Given the description of an element on the screen output the (x, y) to click on. 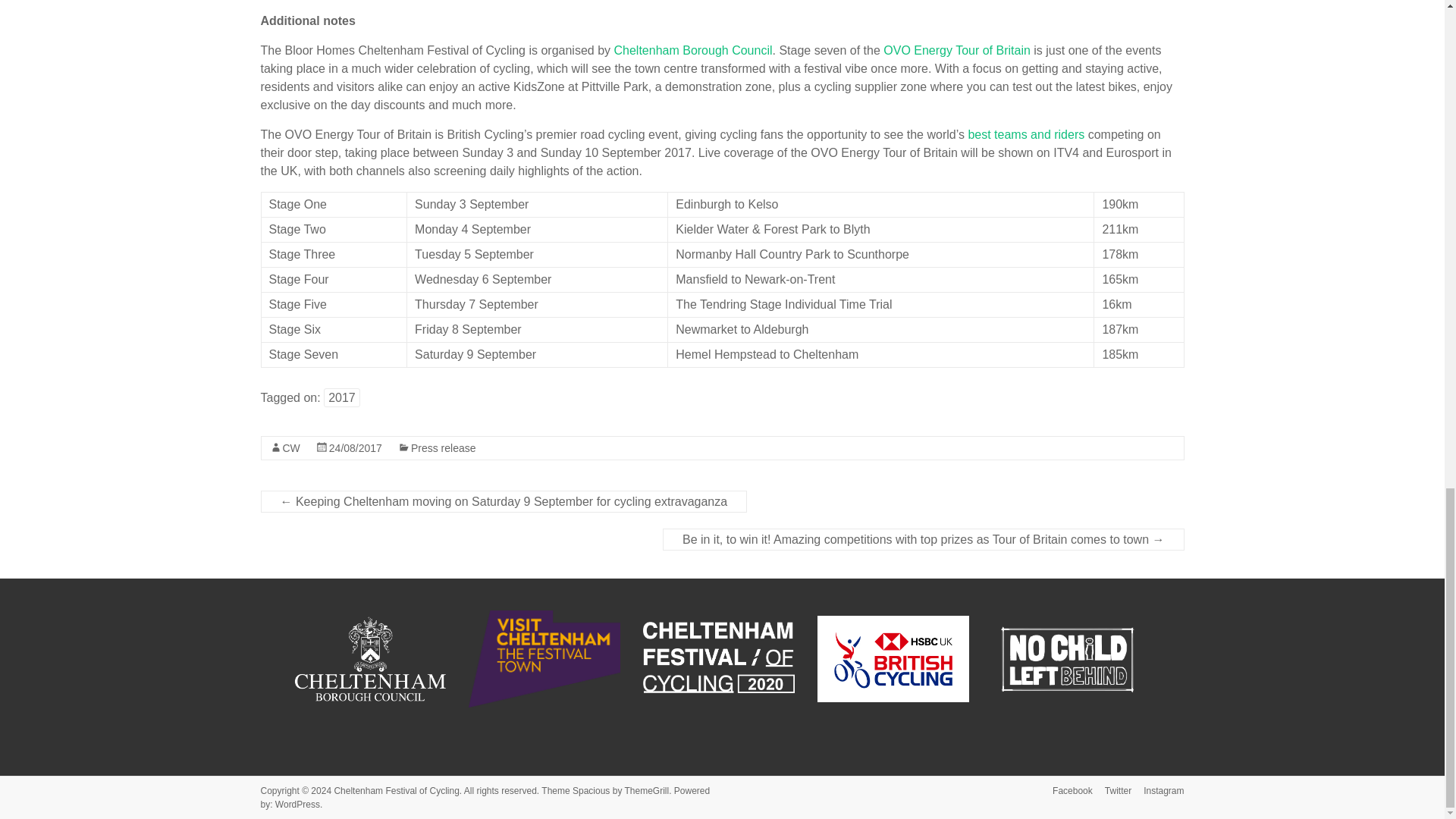
Visit Cheltenham - The Festival Town logo (544, 658)
Cheltenham Borough Council (369, 658)
11:47 am (355, 448)
British Cycling (892, 658)
Festival of Cycling 2020 (718, 658)
